Given the description of an element on the screen output the (x, y) to click on. 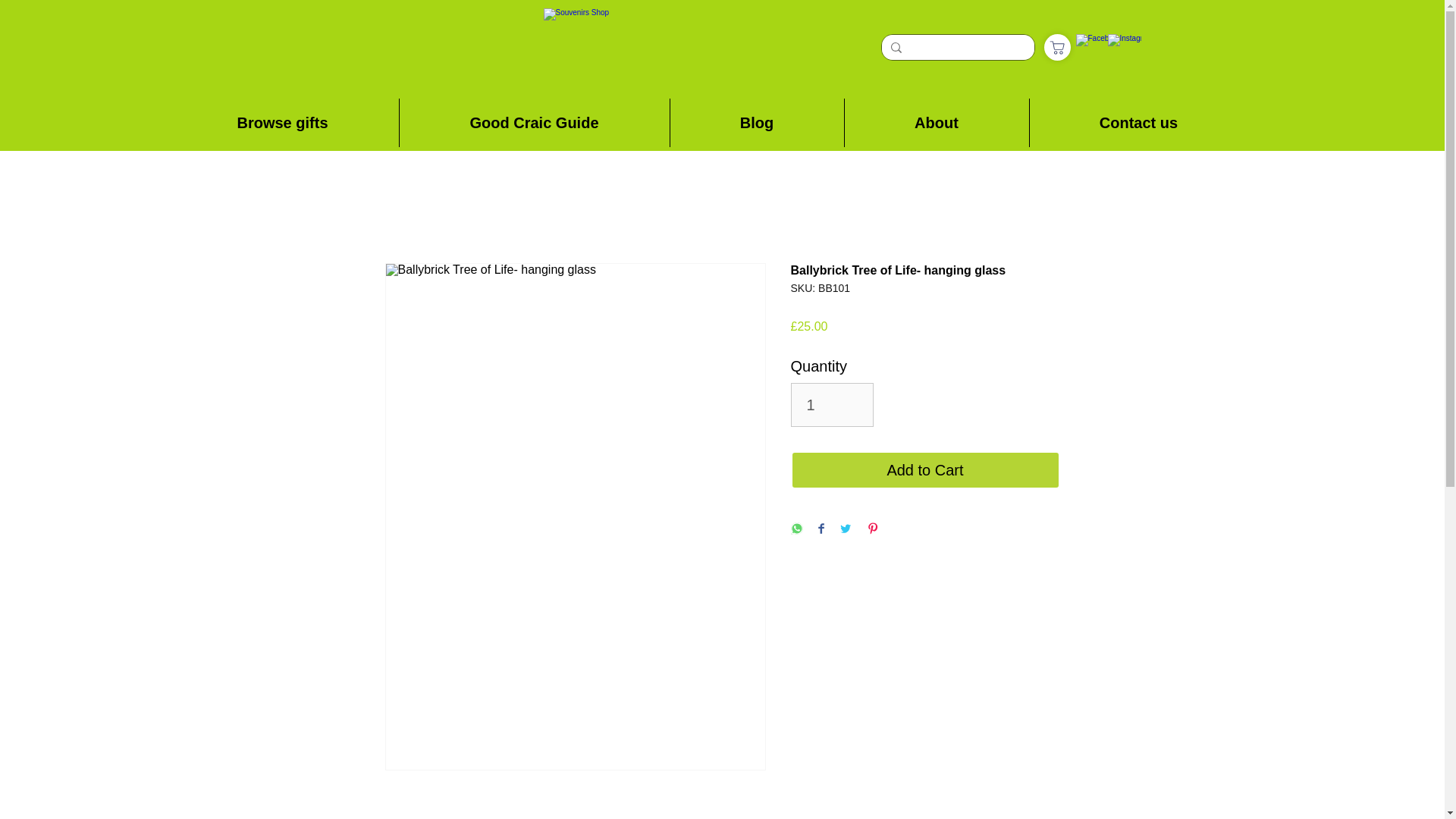
1 (831, 404)
Add to Cart (924, 469)
Contact us (1138, 122)
Blog (756, 122)
About (936, 122)
Good Craic Guide (533, 122)
Browse gifts (282, 122)
